Given the description of an element on the screen output the (x, y) to click on. 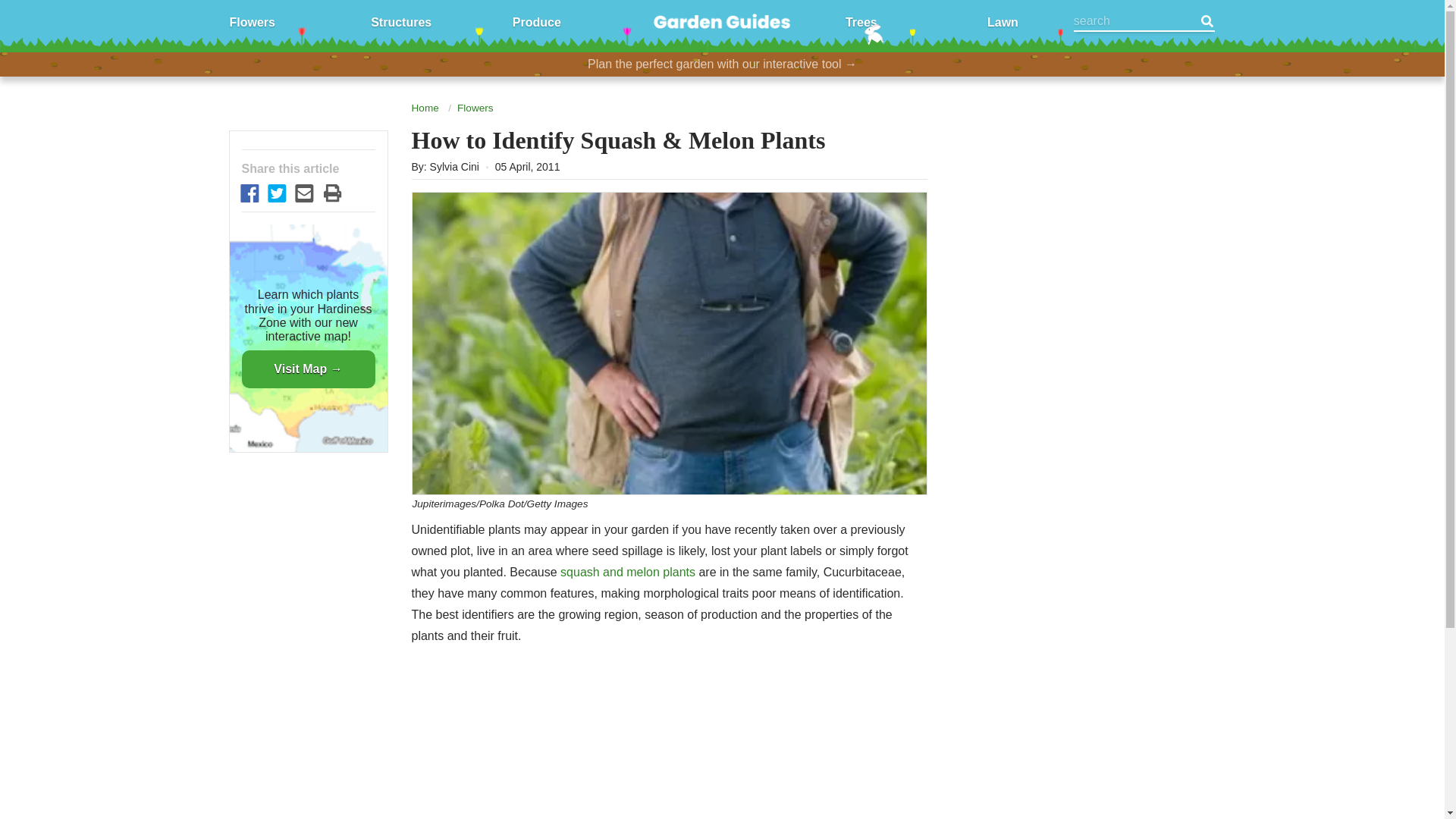
Produce (536, 21)
Home (424, 107)
squash and melon plants (627, 571)
Flowers (251, 21)
Lawn (1002, 21)
Structures (400, 21)
Trees (861, 21)
Flowers (475, 107)
